Given the description of an element on the screen output the (x, y) to click on. 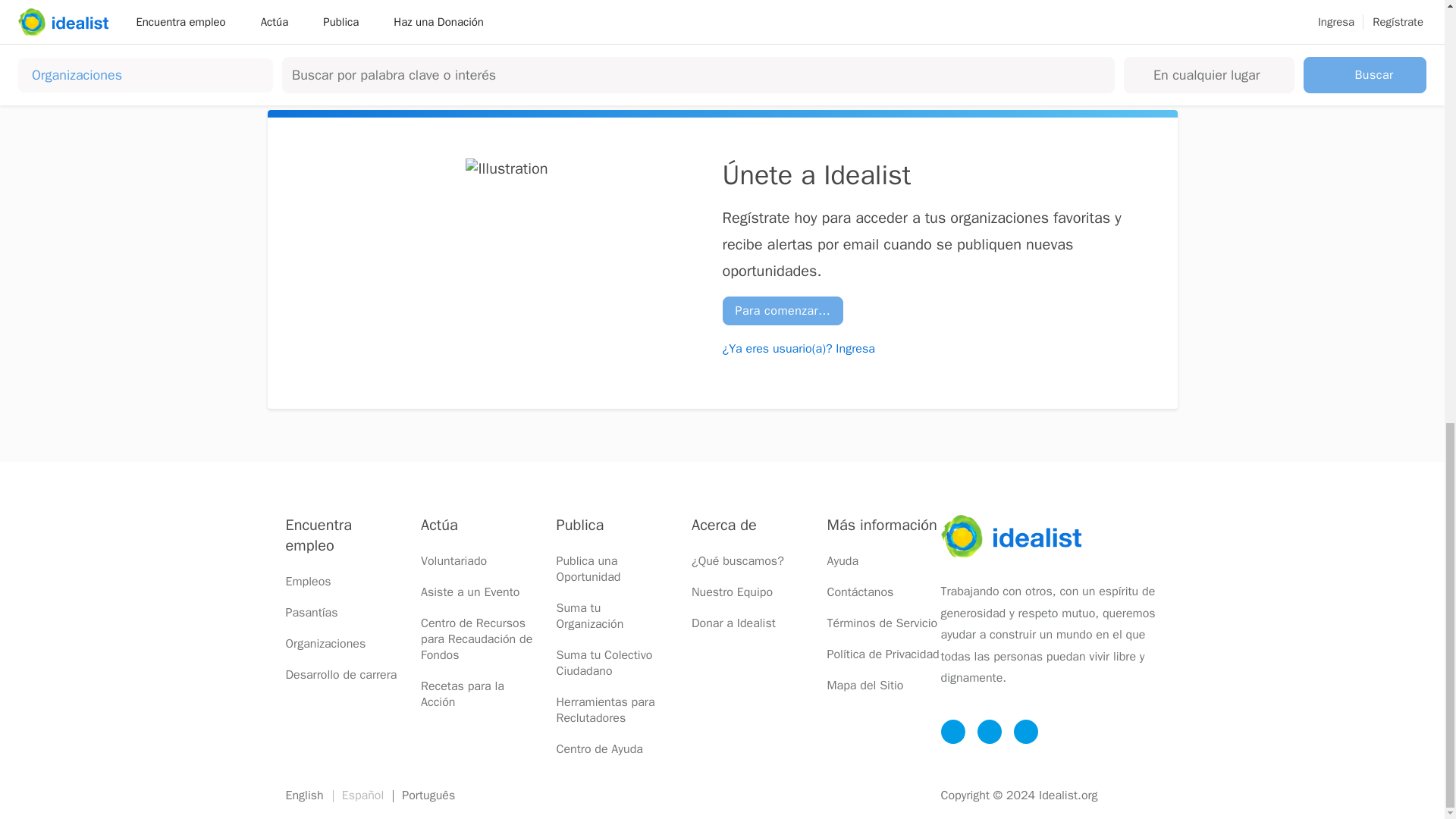
Para comenzar... (782, 310)
